Given the description of an element on the screen output the (x, y) to click on. 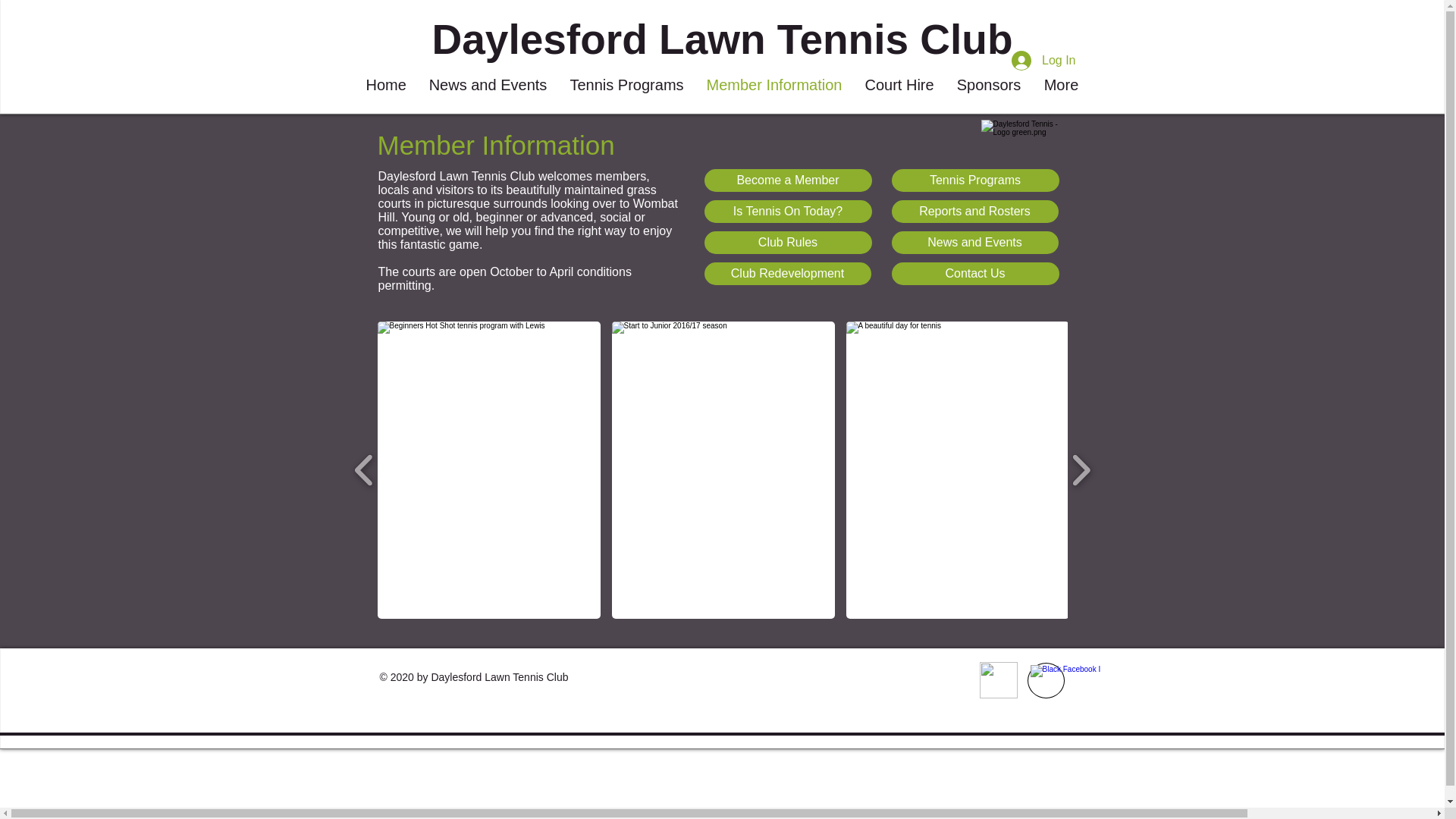
Home (386, 82)
Is Tennis On Today? (786, 210)
Reports and Rosters (974, 210)
News and Events (974, 241)
Club Rules (786, 241)
News and Events (486, 82)
Court Hire (898, 82)
Club Redevelopment (786, 273)
Sponsors (988, 82)
Contact Us (975, 273)
